Given the description of an element on the screen output the (x, y) to click on. 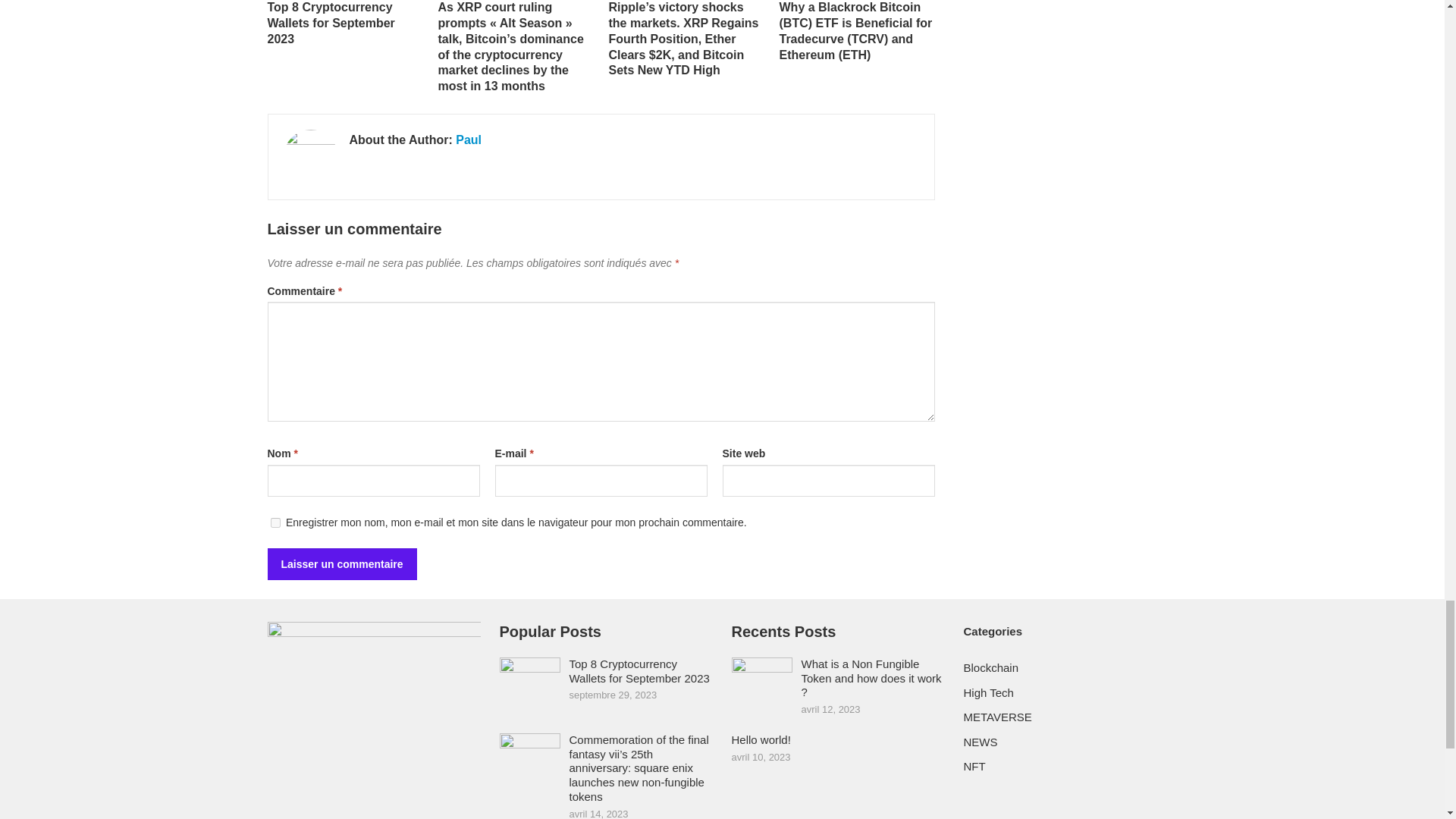
Top 8 Cryptocurrency Wallets for September 2023 (330, 22)
Laisser un commentaire (341, 563)
Paul (468, 139)
Laisser un commentaire (341, 563)
yes (274, 522)
